Given the description of an element on the screen output the (x, y) to click on. 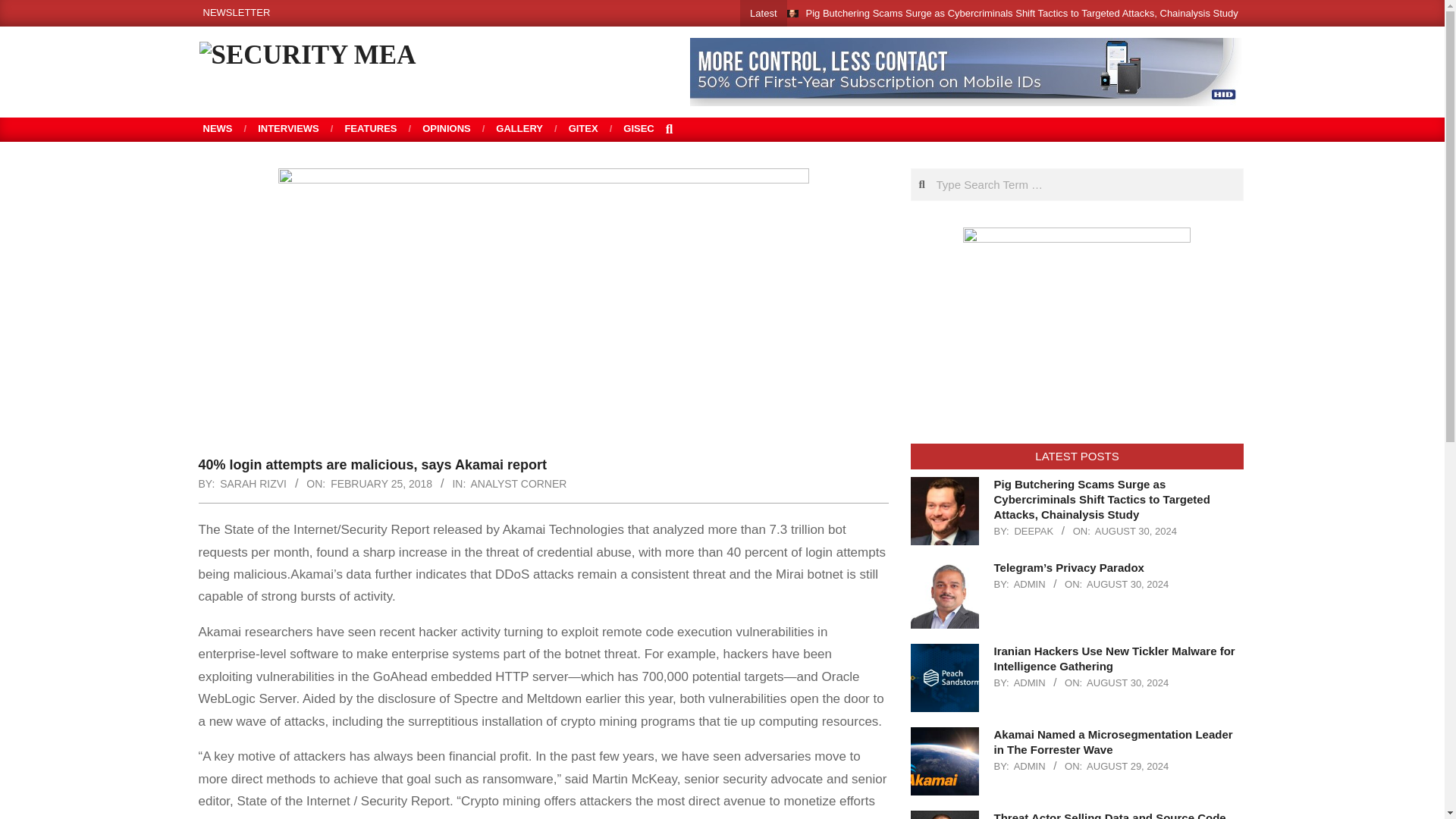
GISEC (638, 128)
SARAH RIZVI (252, 483)
Posts by admin (1029, 583)
Friday, August 30, 2024, 12:38 pm (1135, 531)
Search (24, 9)
Posts by admin (1029, 766)
INTERVIEWS (287, 128)
Friday, August 30, 2024, 9:07 am (1127, 682)
GALLERY (519, 128)
